Given the description of an element on the screen output the (x, y) to click on. 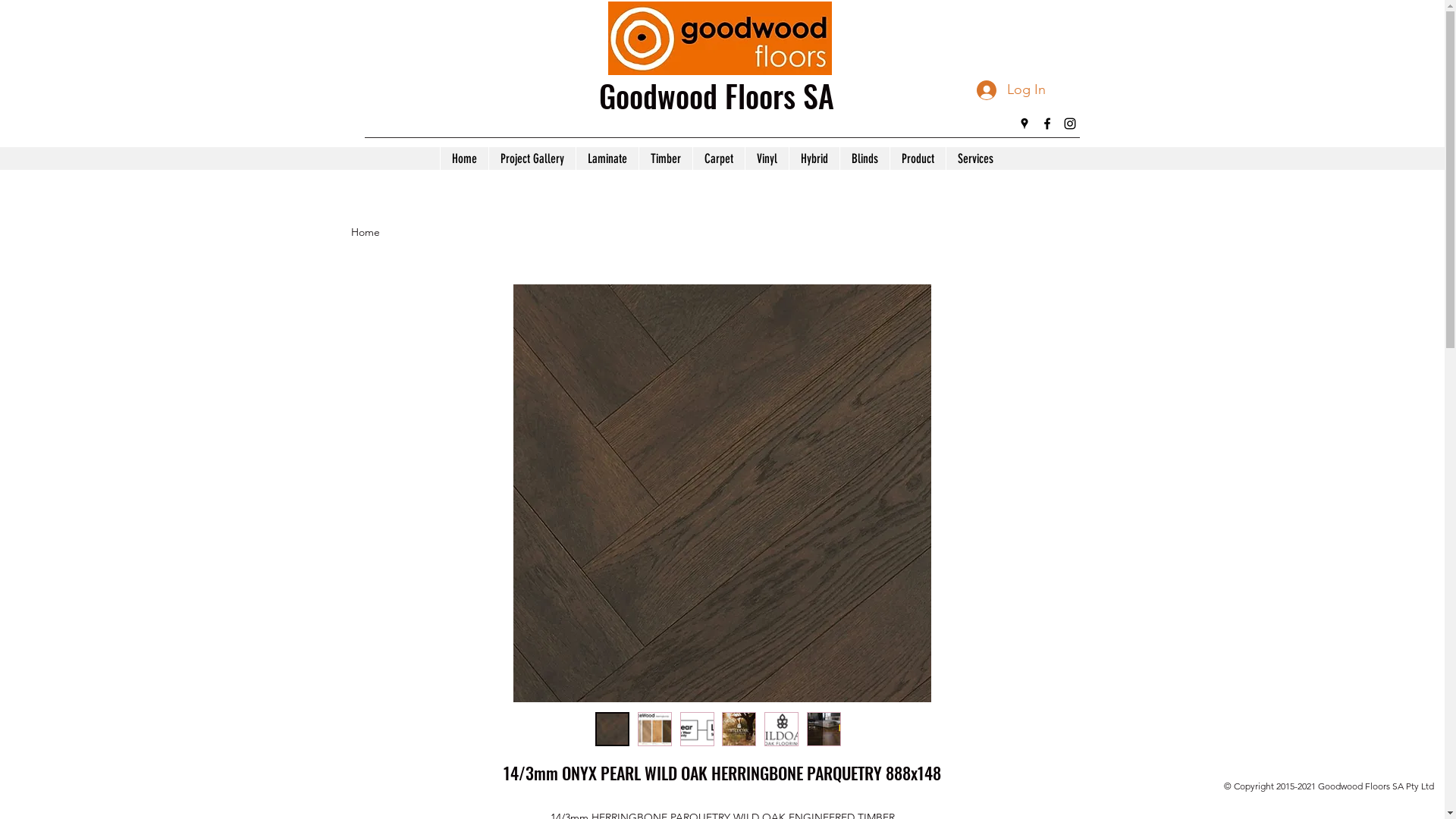
Product Element type: text (917, 158)
Home Element type: text (364, 231)
Carpet Element type: text (718, 158)
Project Gallery Element type: text (531, 158)
Log In Element type: text (1011, 89)
Goodwood Floors SA Element type: text (716, 95)
Hybrid Element type: text (813, 158)
Timber Element type: text (665, 158)
Laminate Element type: text (606, 158)
Home Element type: text (463, 158)
Vinyl Element type: text (766, 158)
Services Element type: text (974, 158)
Blinds Element type: text (864, 158)
